Given the description of an element on the screen output the (x, y) to click on. 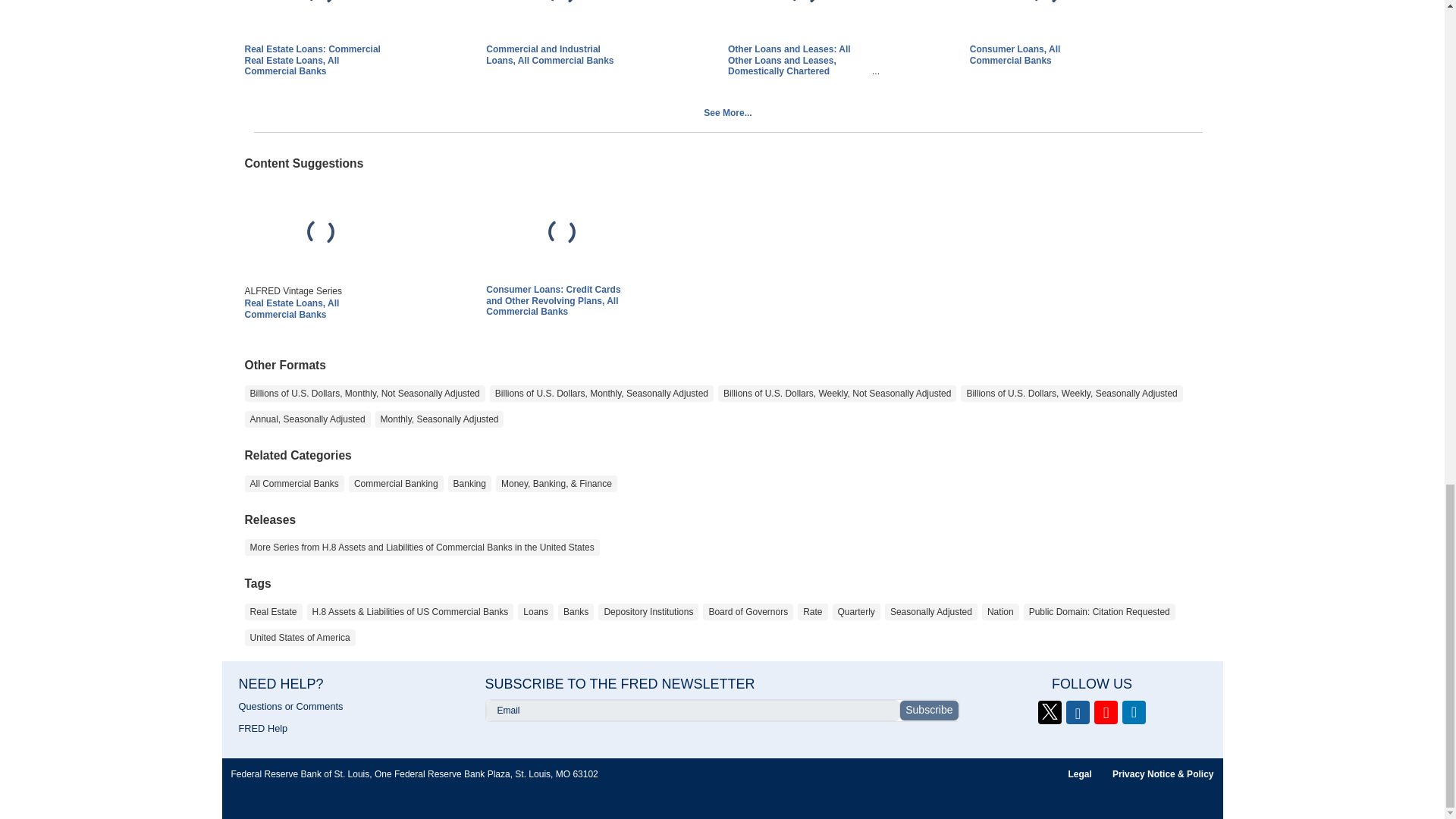
Commercial and Industrial Loans, All Commercial Banks (549, 54)
Consumer Loans, All Commercial Banks (1015, 54)
